Given the description of an element on the screen output the (x, y) to click on. 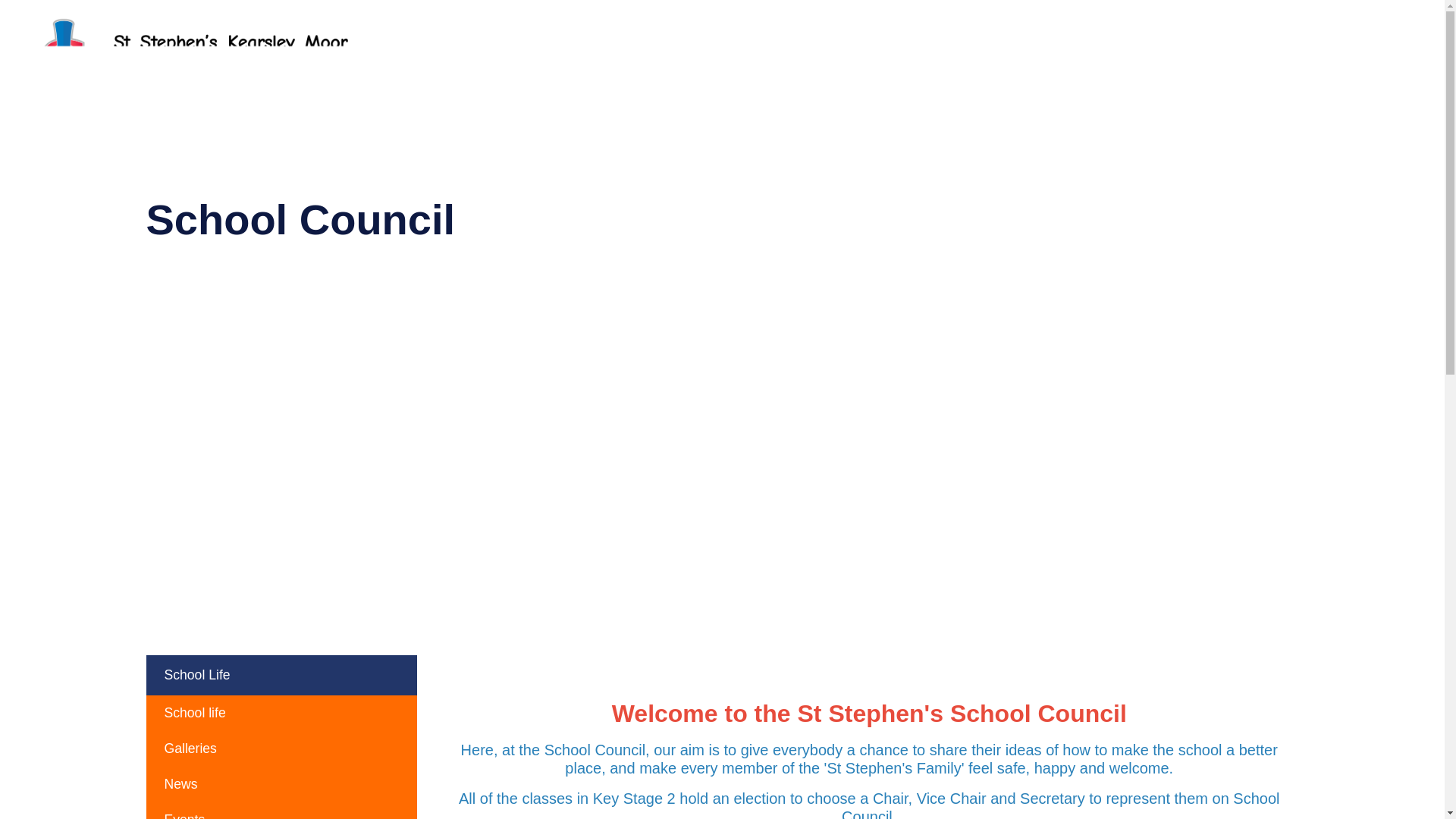
X (1417, 51)
Curriculum Information (916, 51)
Our School (662, 51)
School Life (772, 51)
